Given the description of an element on the screen output the (x, y) to click on. 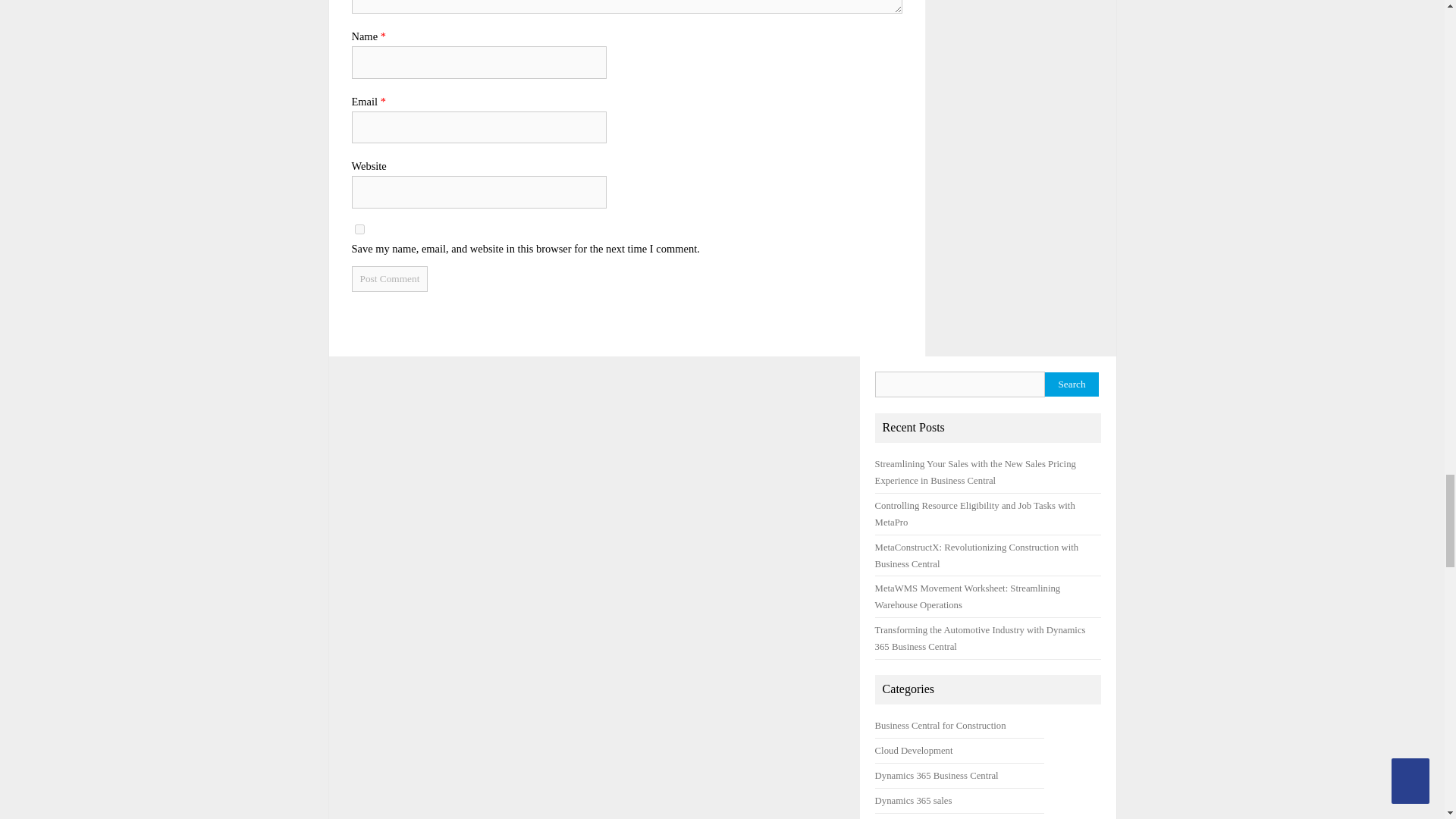
yes (360, 229)
Search (1072, 384)
Post Comment (390, 278)
